Given the description of an element on the screen output the (x, y) to click on. 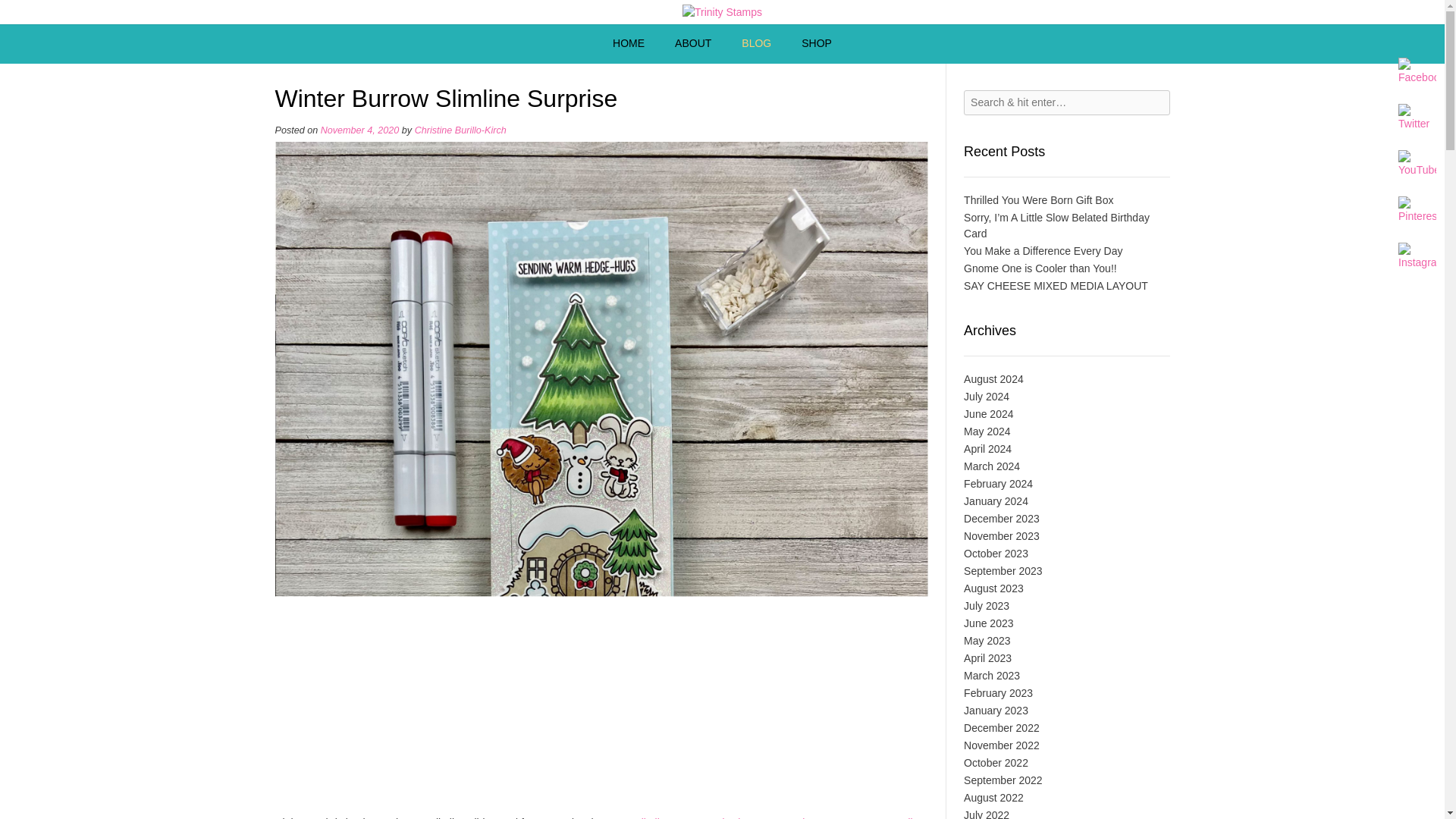
Slimline Paper Pad-Winter Hues (709, 817)
dies (914, 817)
Twitter (1416, 117)
HOME (627, 44)
Trinity Stamps (721, 12)
ABOUT (692, 44)
SHOP (816, 44)
November 4, 2020 (359, 130)
Facebook (1416, 71)
Winter Burrow stamp (841, 817)
Christine Burillo-Kirch (460, 130)
BLOG (756, 44)
Search for: (1066, 102)
